Given the description of an element on the screen output the (x, y) to click on. 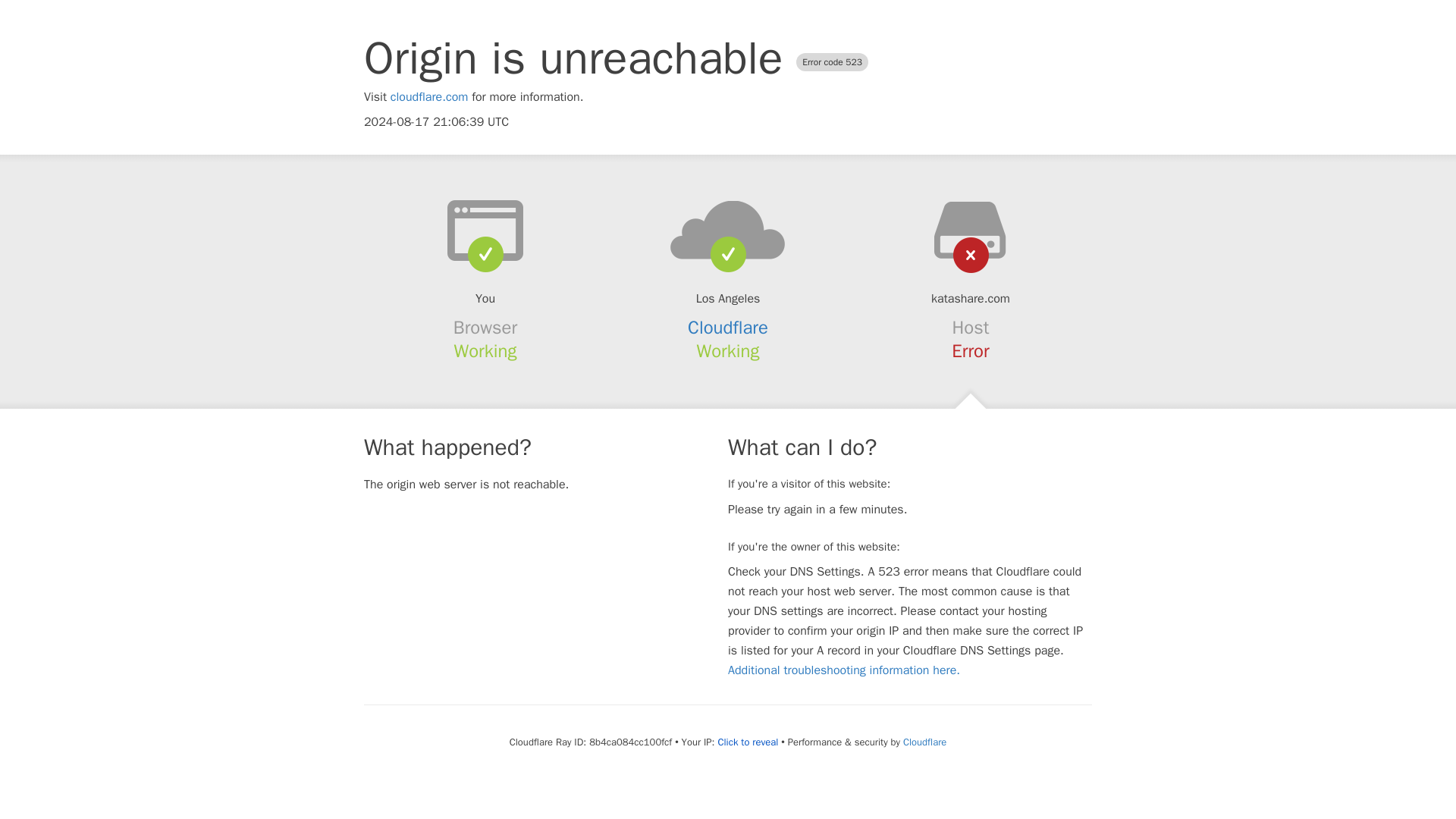
Additional troubleshooting information here. (843, 670)
Click to reveal (747, 742)
Cloudflare (924, 741)
Cloudflare (727, 327)
cloudflare.com (429, 96)
